Given the description of an element on the screen output the (x, y) to click on. 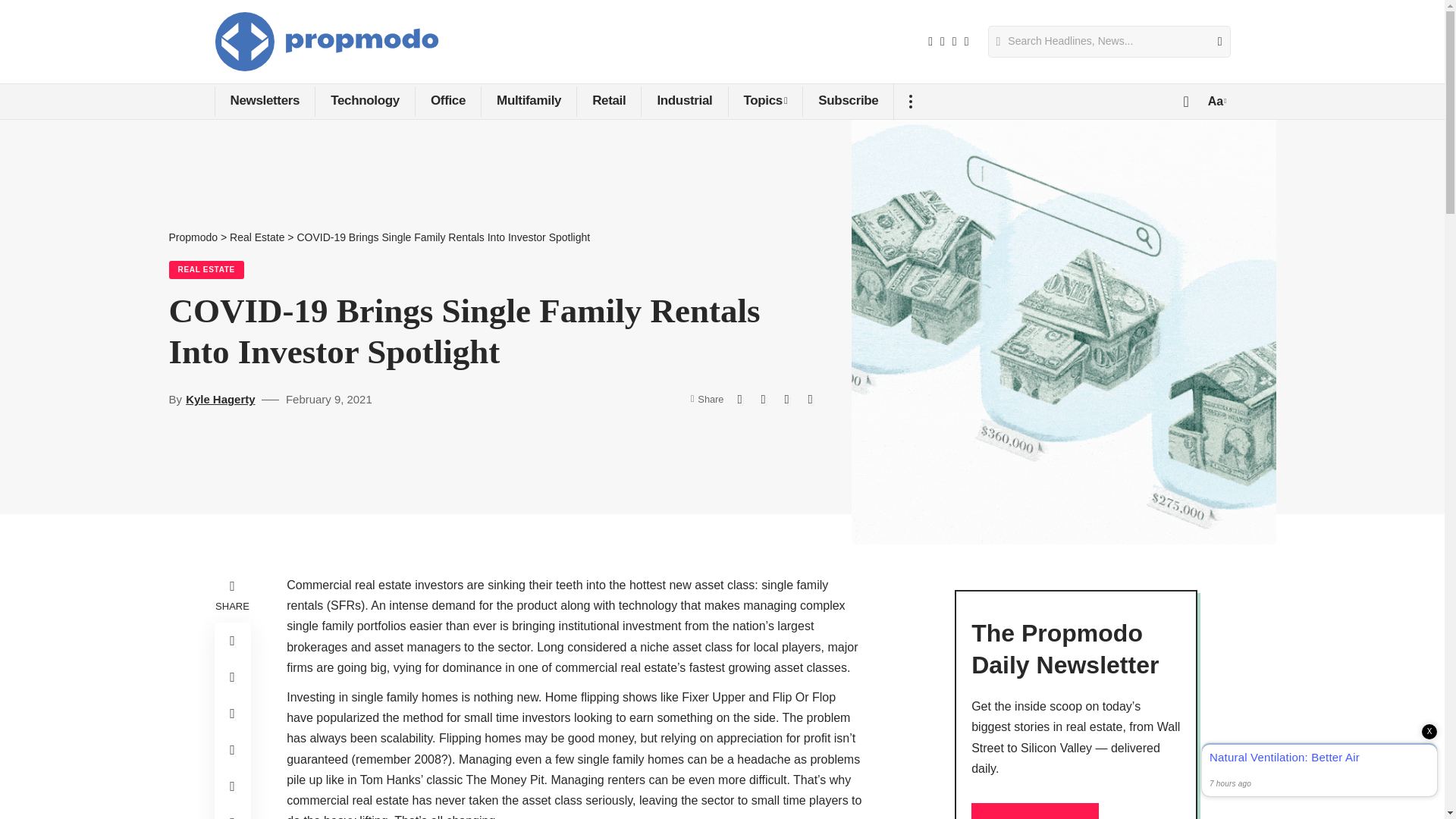
Retail (608, 101)
Topics (765, 101)
Search (1213, 41)
Office (447, 101)
Industrial (683, 101)
Technology (364, 101)
Go to Propmodo. (192, 236)
Multifamily (528, 101)
Newsletters (264, 101)
Go to the Real Estate Category archives. (256, 236)
